Given the description of an element on the screen output the (x, y) to click on. 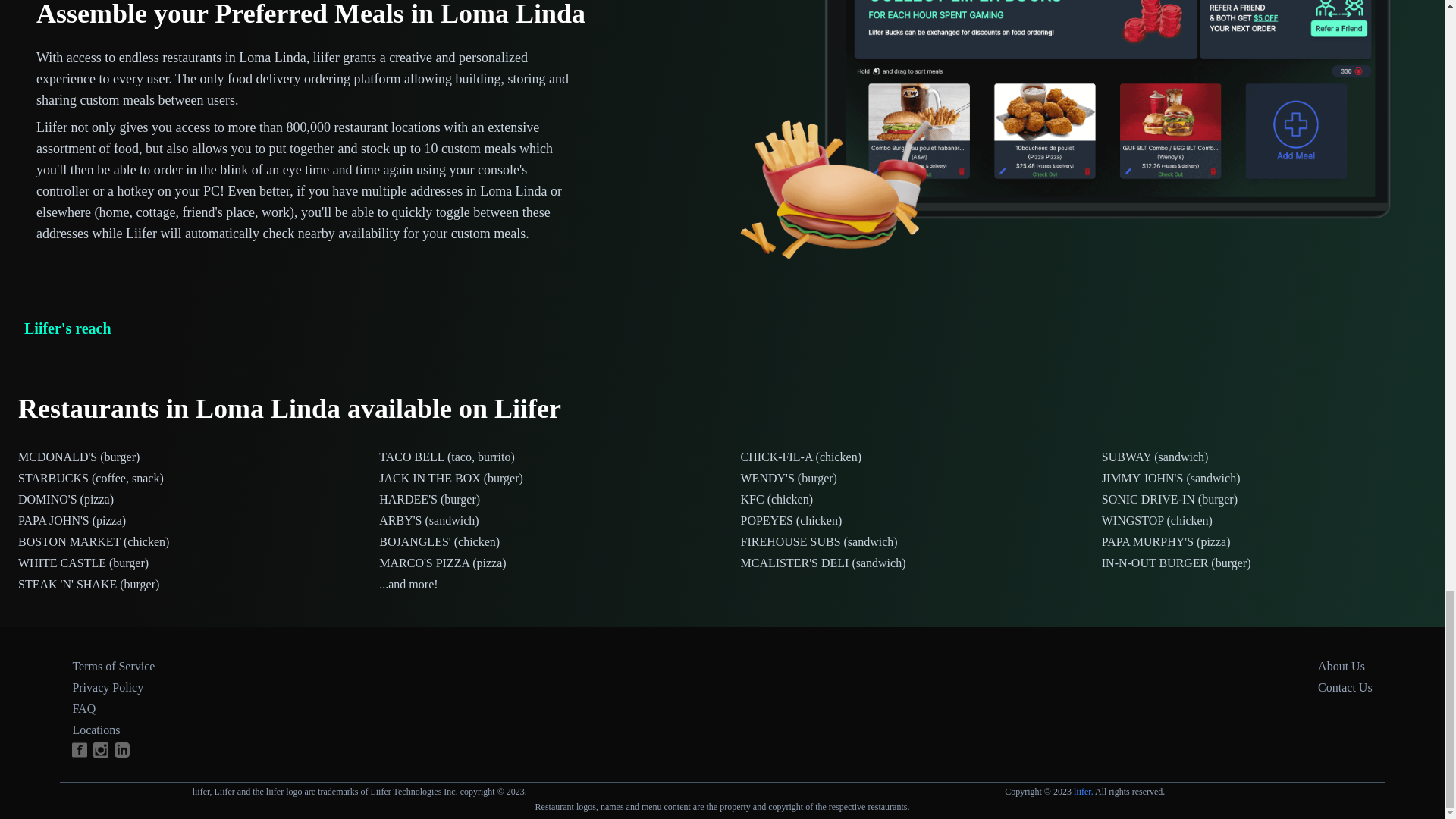
Privacy Policy (106, 686)
FAQ (83, 707)
Locations (95, 729)
Terms of Service (112, 666)
About Us (1341, 666)
Contact Us (1345, 686)
